Given the description of an element on the screen output the (x, y) to click on. 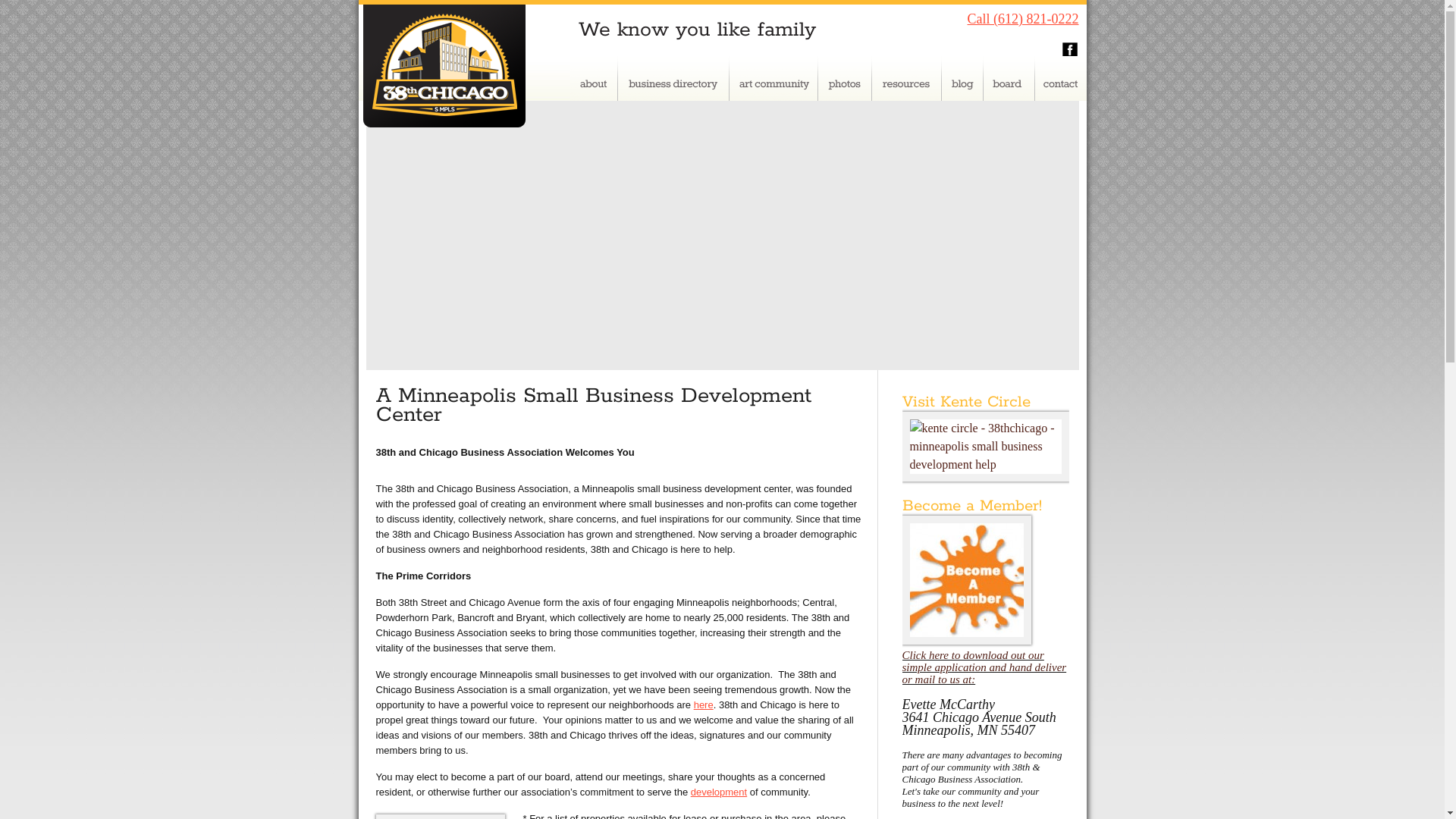
here Element type: text (703, 704)
Call (612) 821-0222 Element type: text (1023, 18)
38th and chicago business association - membership Element type: hover (966, 639)
development Element type: text (718, 791)
